Given the description of an element on the screen output the (x, y) to click on. 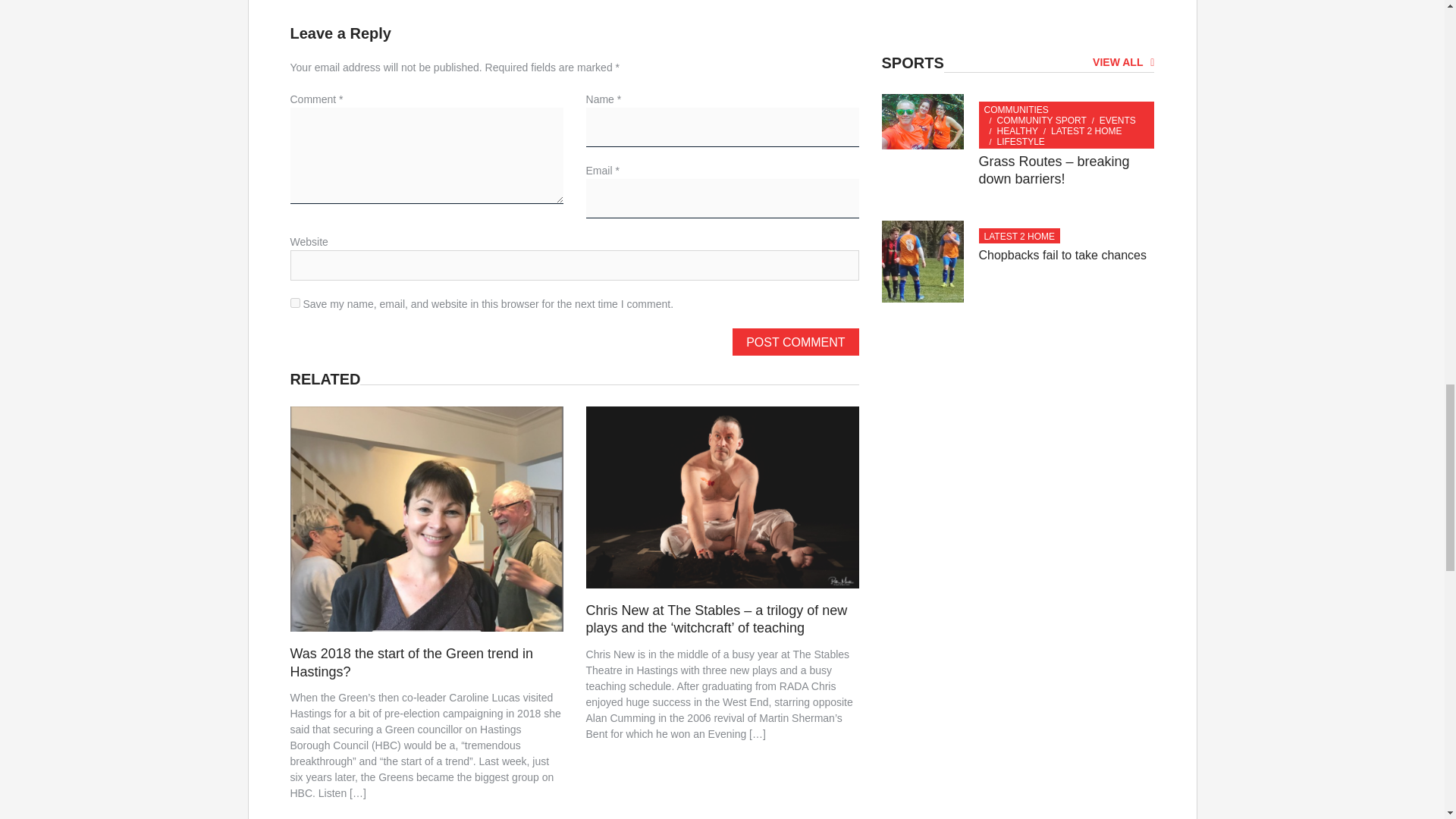
Post Comment (795, 341)
Post Comment (795, 341)
yes (294, 302)
Was 2018 the start of the Green trend in Hastings? (410, 662)
